Given the description of an element on the screen output the (x, y) to click on. 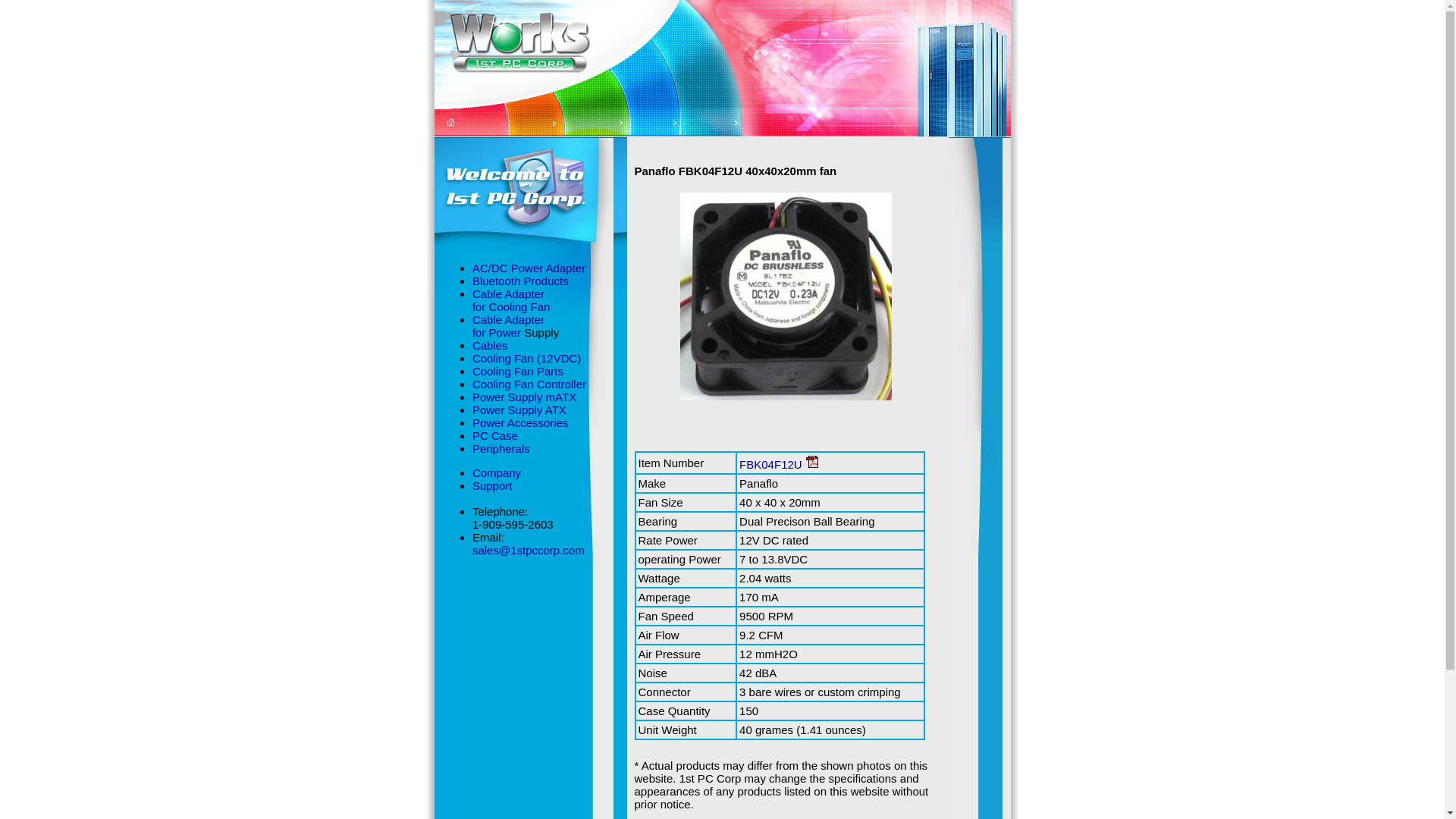
AC/DC Power Adapter Element type: text (528, 267)
Cooling Fan Controller Element type: text (529, 383)
Cable Adapter
for Power Element type: text (508, 325)
Bluetooth Products Element type: text (520, 280)
Power Accessories Element type: text (520, 422)
Power Supply ATX Element type: text (519, 409)
sales@1stpccorp.com Element type: text (528, 549)
FBK04F12U Element type: text (770, 464)
Company Element type: text (496, 472)
Cooling Fan (12VDC) Element type: text (526, 357)
PC Case Element type: text (494, 435)
Cable Adapter
for Cooling Fan Element type: text (511, 300)
Power Supply mATX Element type: text (524, 396)
Peripherals Element type: text (501, 448)
Cables Element type: text (490, 344)
Support Element type: text (492, 485)
Cooling Fan Parts Element type: text (517, 370)
